Given the description of an element on the screen output the (x, y) to click on. 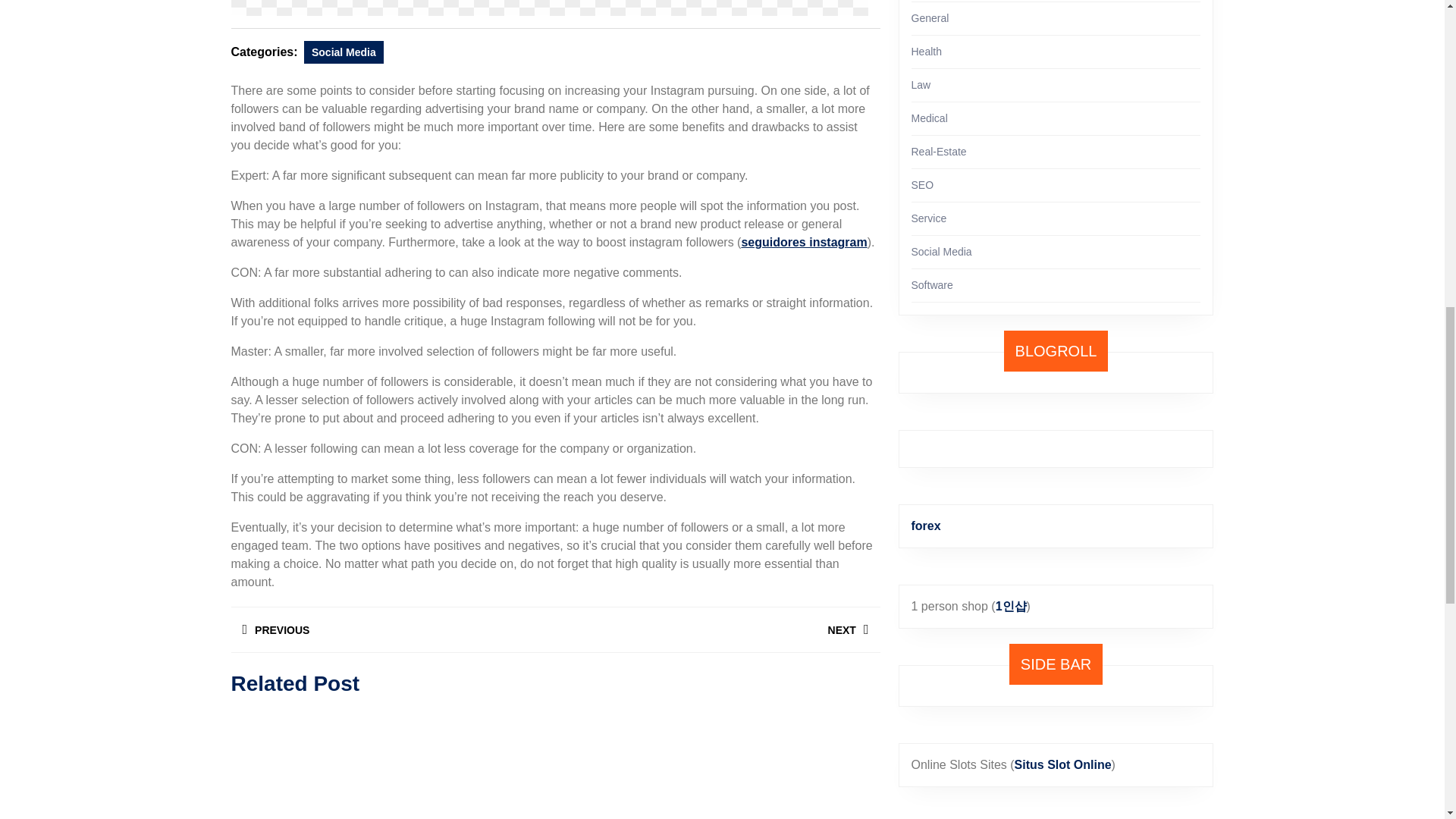
seguidores instagram (803, 241)
Social Media (344, 51)
